Given the description of an element on the screen output the (x, y) to click on. 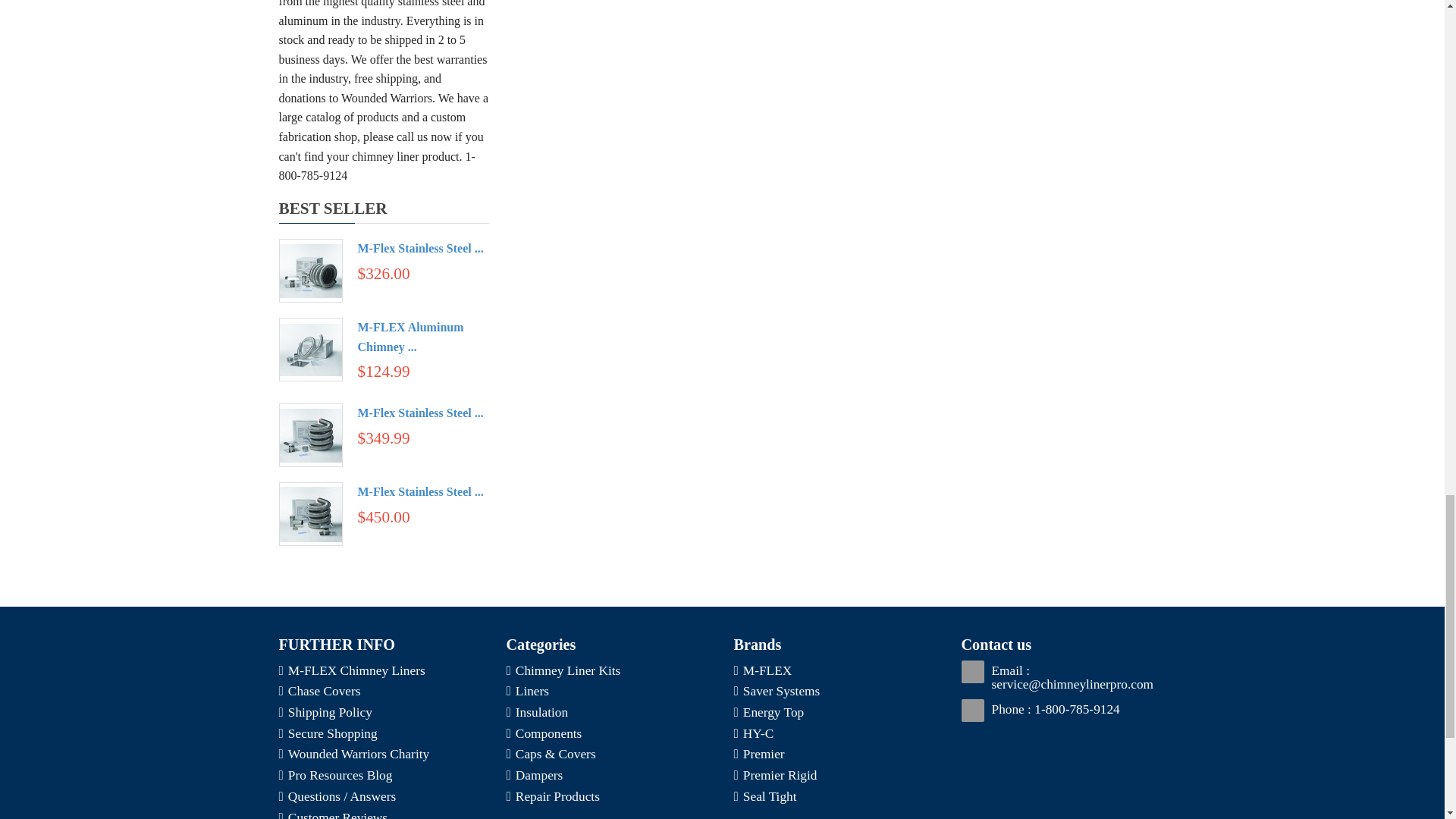
M-FLEX Aluminum Chimney Liner Kit for Gas Burners (309, 349)
M-Flex Stainless Steel Chimney Liner Basic Insert Kit (420, 412)
M-FLEX Aluminum Chimney Liner Kit for Gas Burners (309, 348)
M-Flex Stainless Steel Chimney Liner Basic Insert Kit (309, 433)
M-Flex Stainless Steel Chimney Liner Basic Insert Kit (309, 435)
M-FLEX Aluminum Chimney Liner Kit for Gas Burners (411, 336)
